Given the description of an element on the screen output the (x, y) to click on. 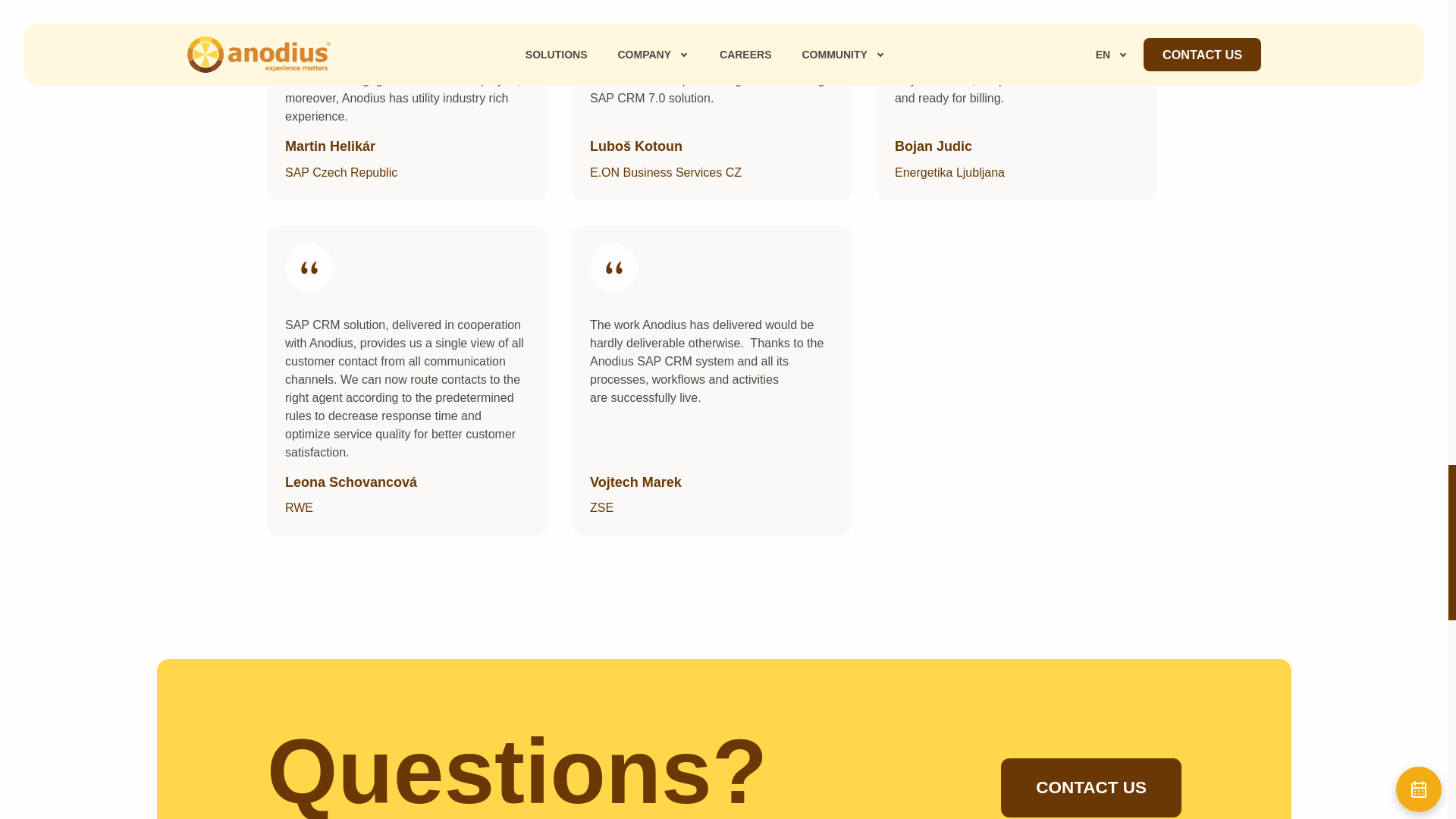
CONTACT US (1090, 788)
